Given the description of an element on the screen output the (x, y) to click on. 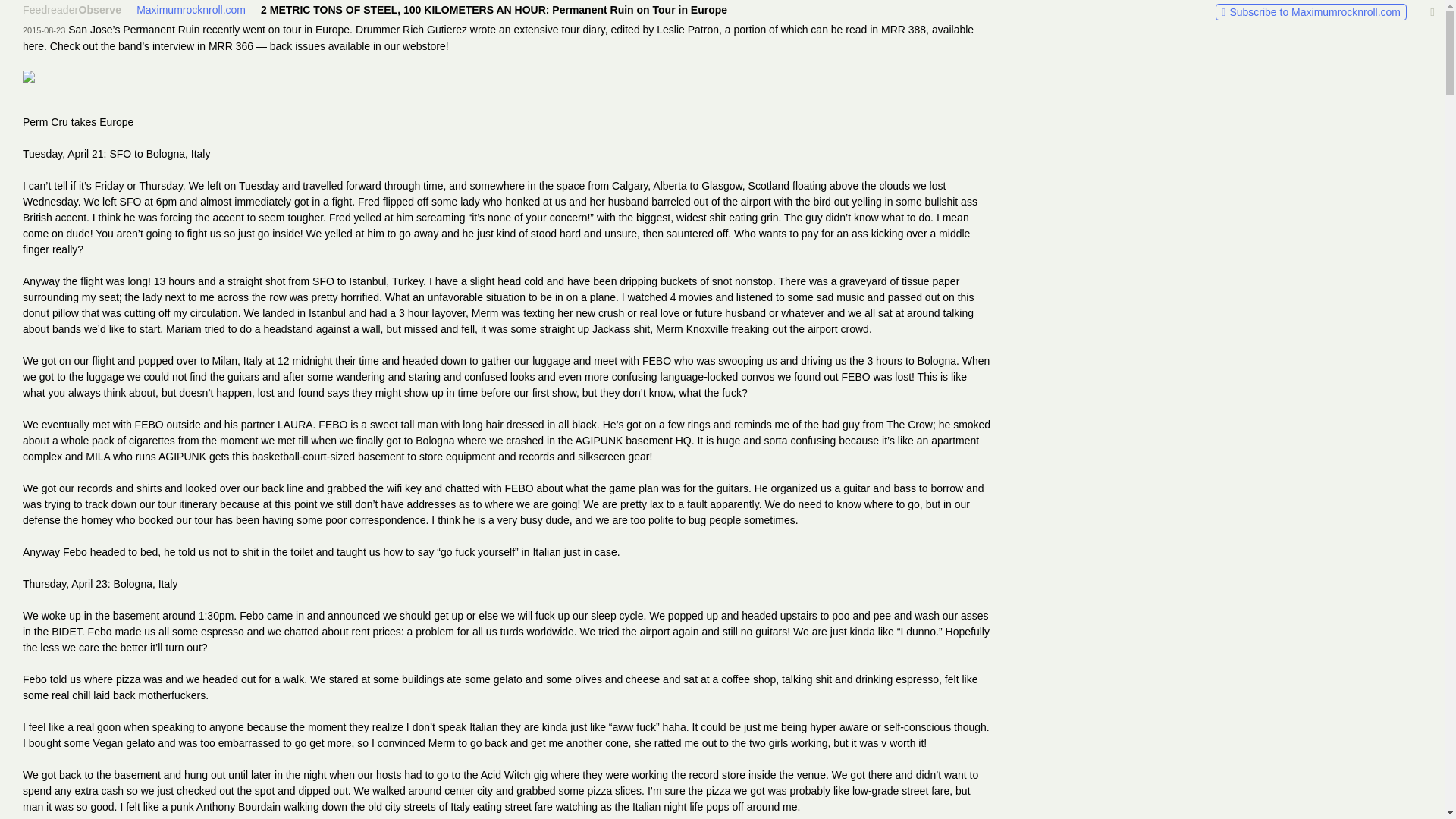
FeedreaderObserve (71, 9)
Subscribe to Maximumrocknroll.com (1310, 12)
Maximumrocknroll.com (191, 9)
